Given the description of an element on the screen output the (x, y) to click on. 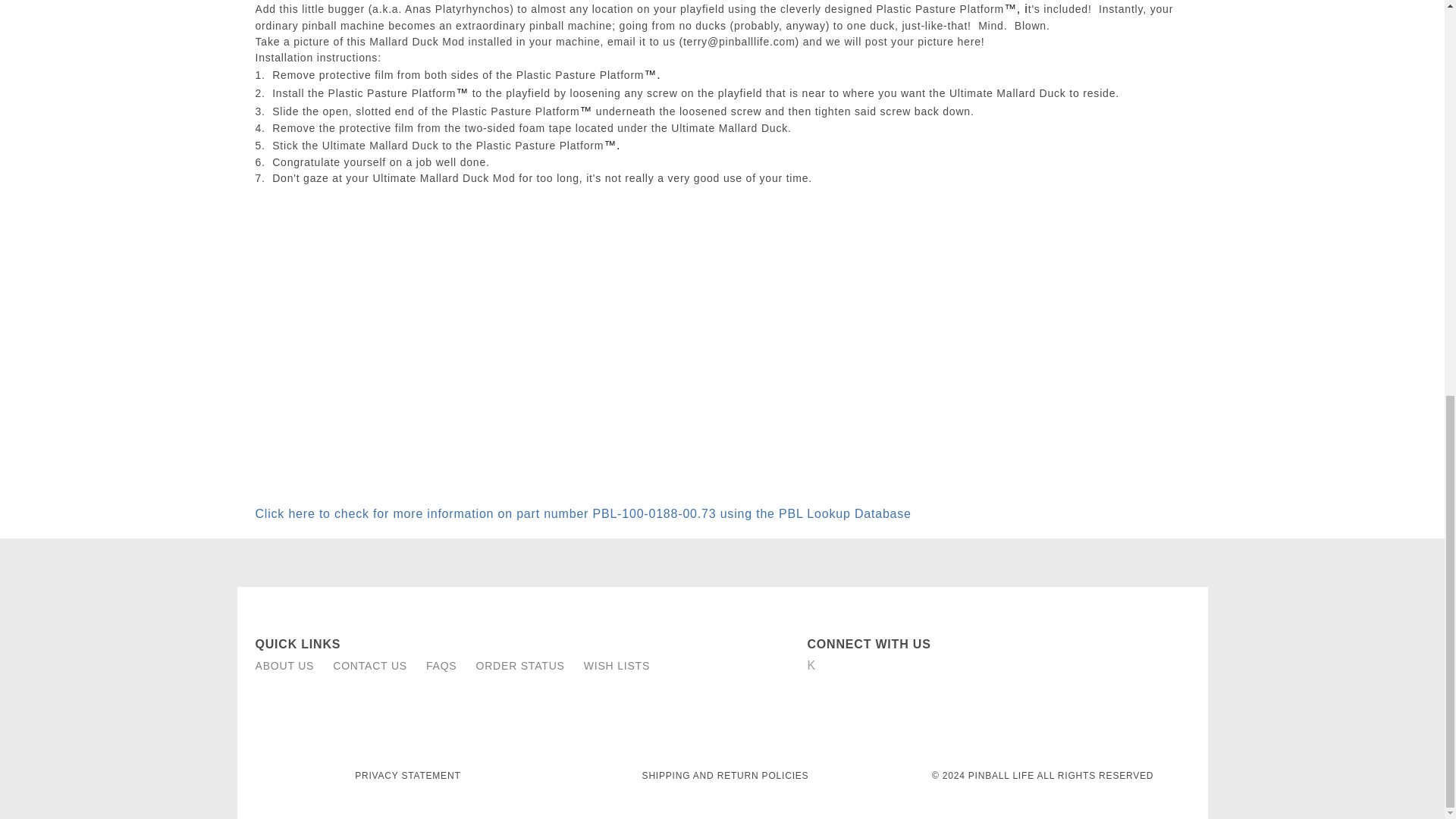
FAQS (441, 665)
ORDER STATUS (520, 665)
ABOUT US (284, 665)
CONTACT US (370, 665)
WISH LISTS (616, 665)
